Given the description of an element on the screen output the (x, y) to click on. 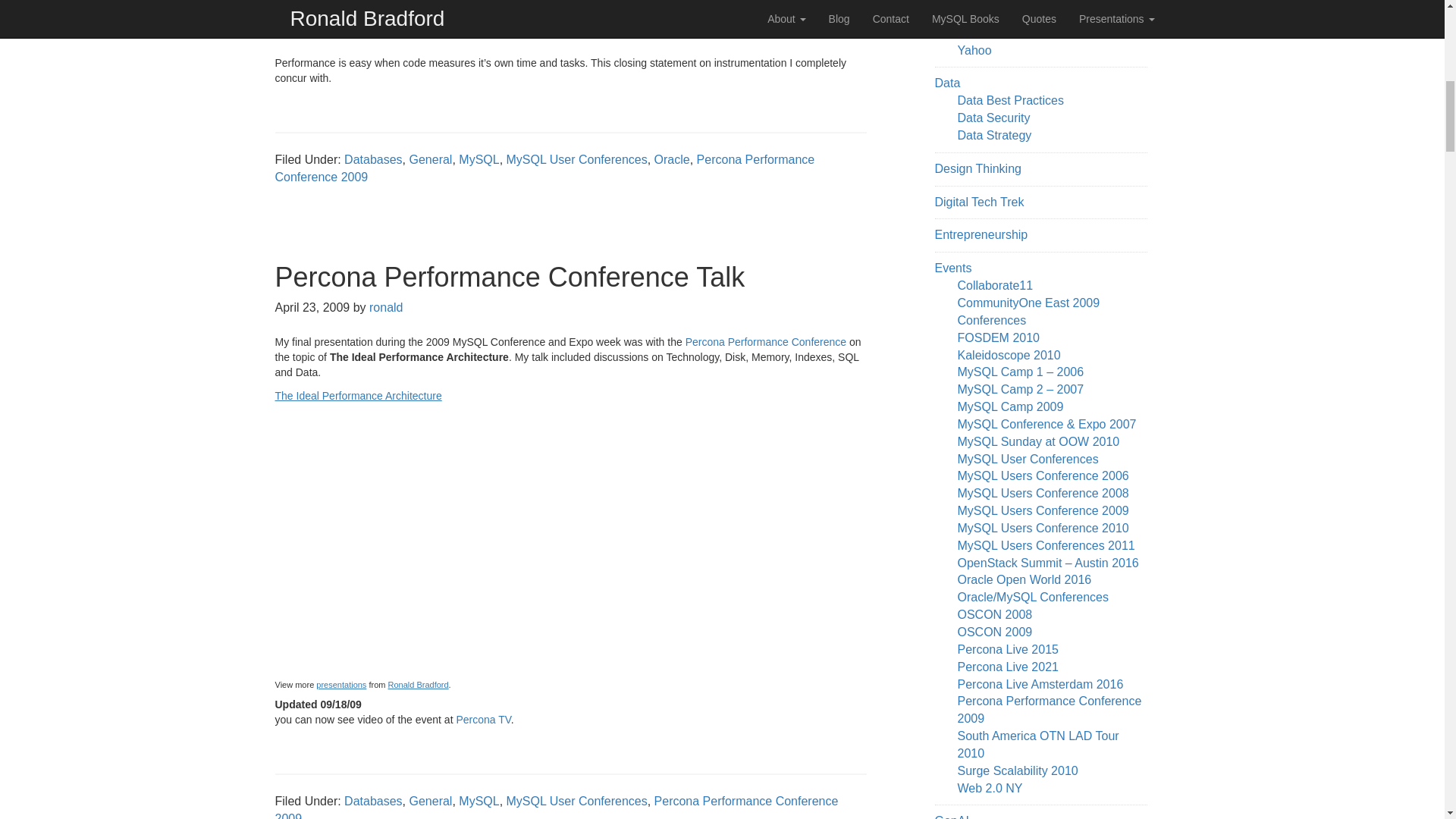
MySQL Users Conference April 2006 (1042, 475)
The Ideal Performance Architecture (435, 395)
www.sun.com (967, 15)
MySQL Users Conference 2008 (1042, 492)
